Given the description of an element on the screen output the (x, y) to click on. 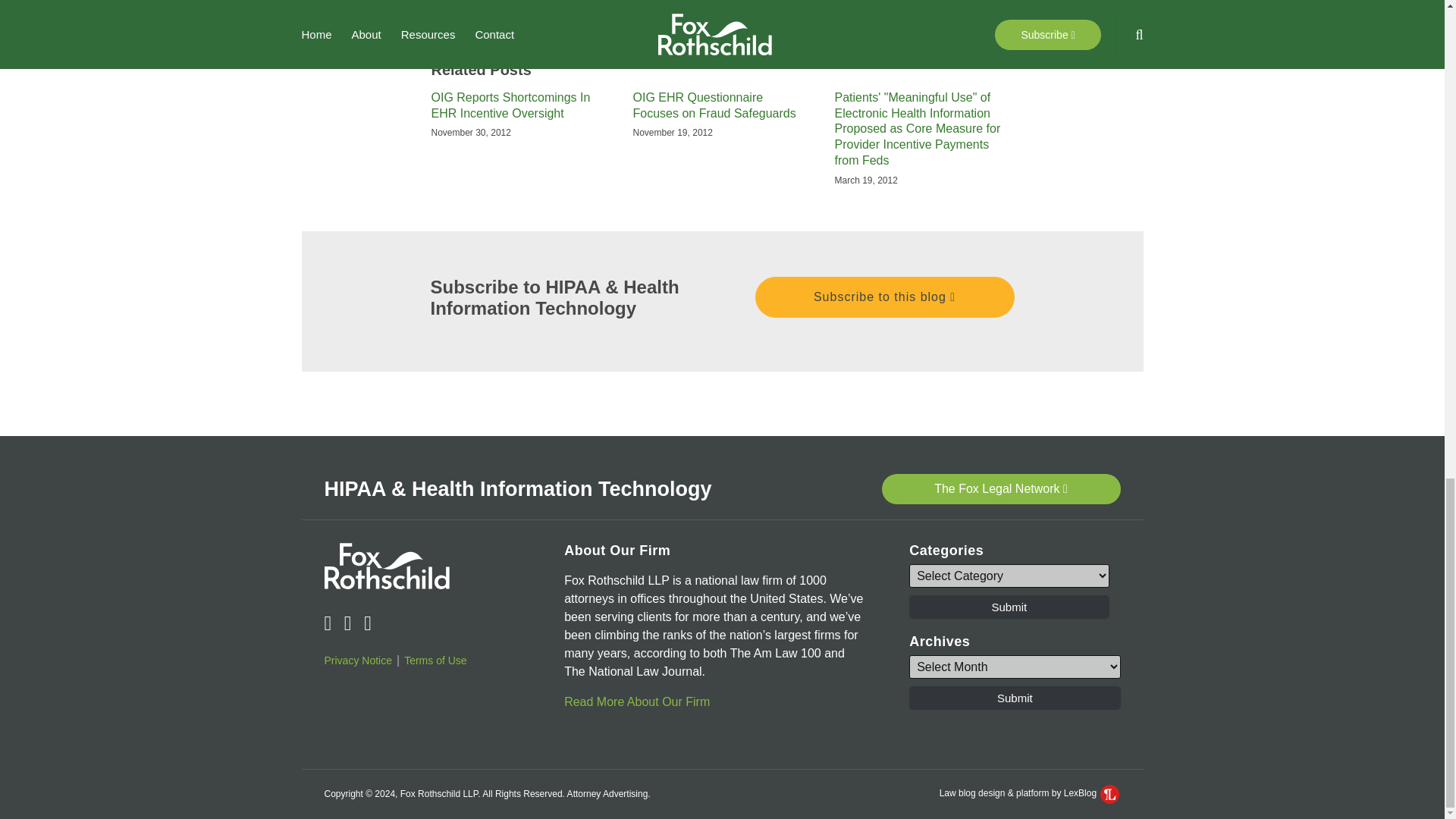
OIG EHR Questionnaire Focuses on Fraud Safeguards (720, 106)
Subscribe to this blog (884, 296)
OIG Reports Shortcomings In EHR Incentive Oversight (520, 106)
Submit (1013, 698)
The Fox Legal Network (999, 489)
LexBlog Logo (1109, 793)
Submit (1008, 607)
